Given the description of an element on the screen output the (x, y) to click on. 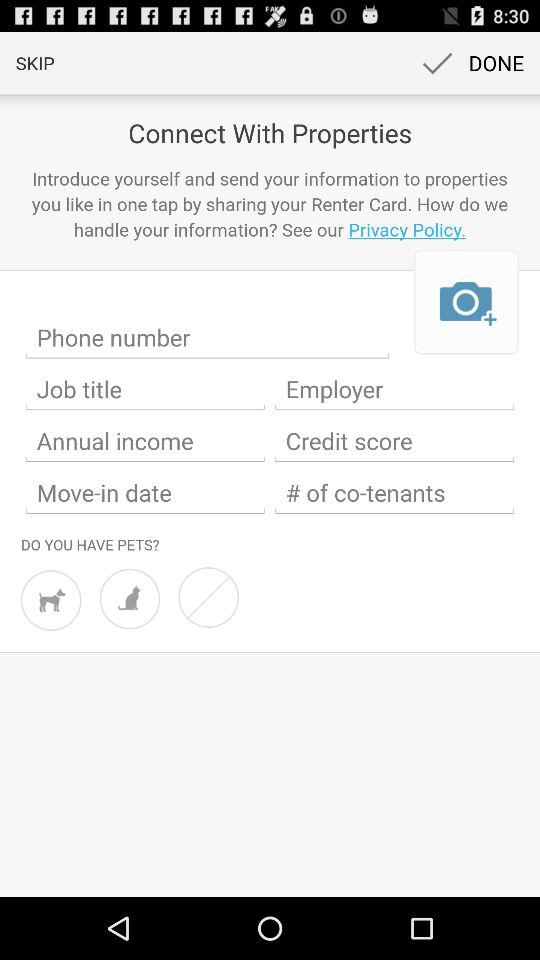
enter employer information (394, 389)
